Given the description of an element on the screen output the (x, y) to click on. 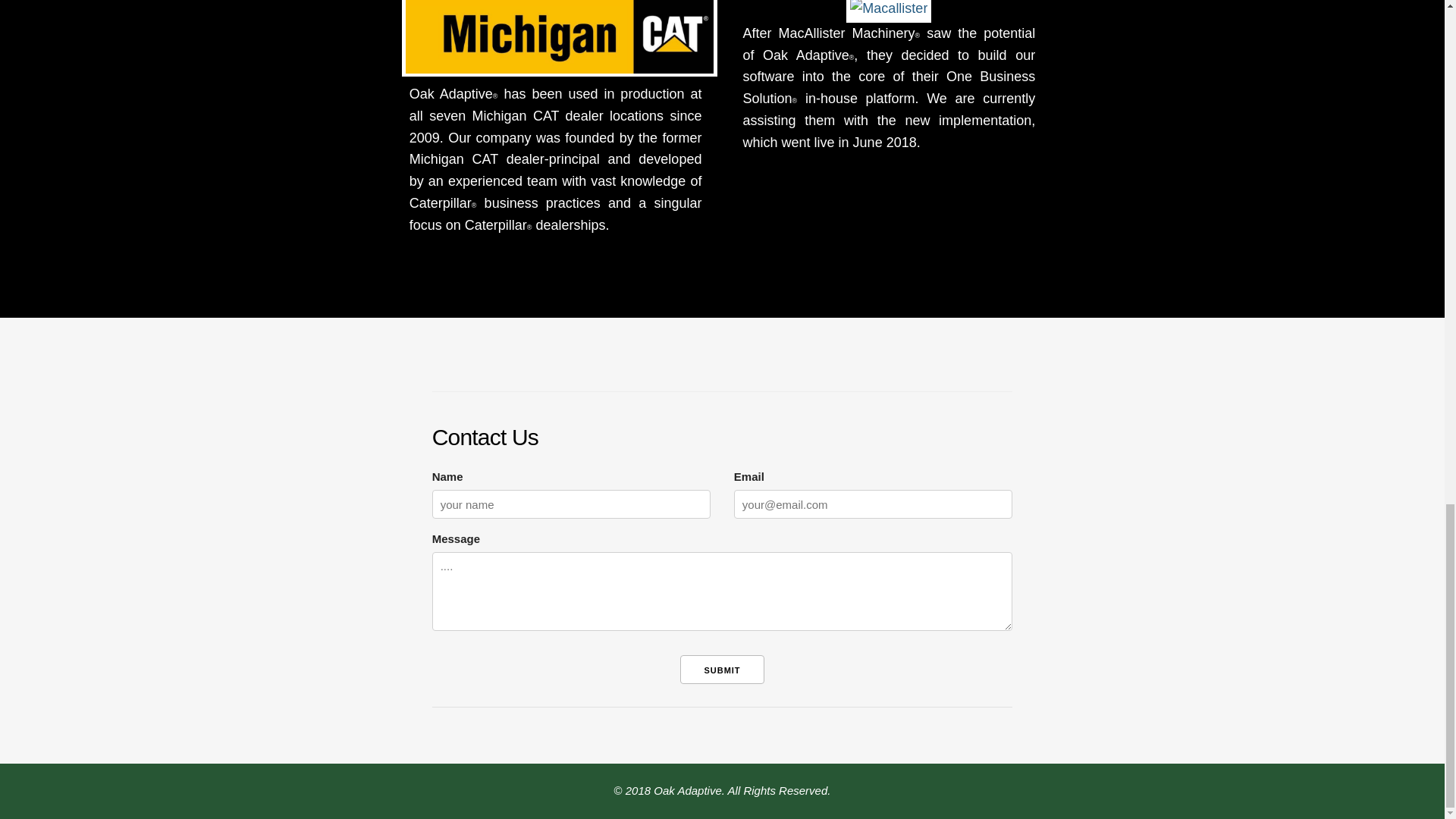
Submit (720, 669)
Submit (720, 669)
Must be a valid email address (873, 503)
